Given the description of an element on the screen output the (x, y) to click on. 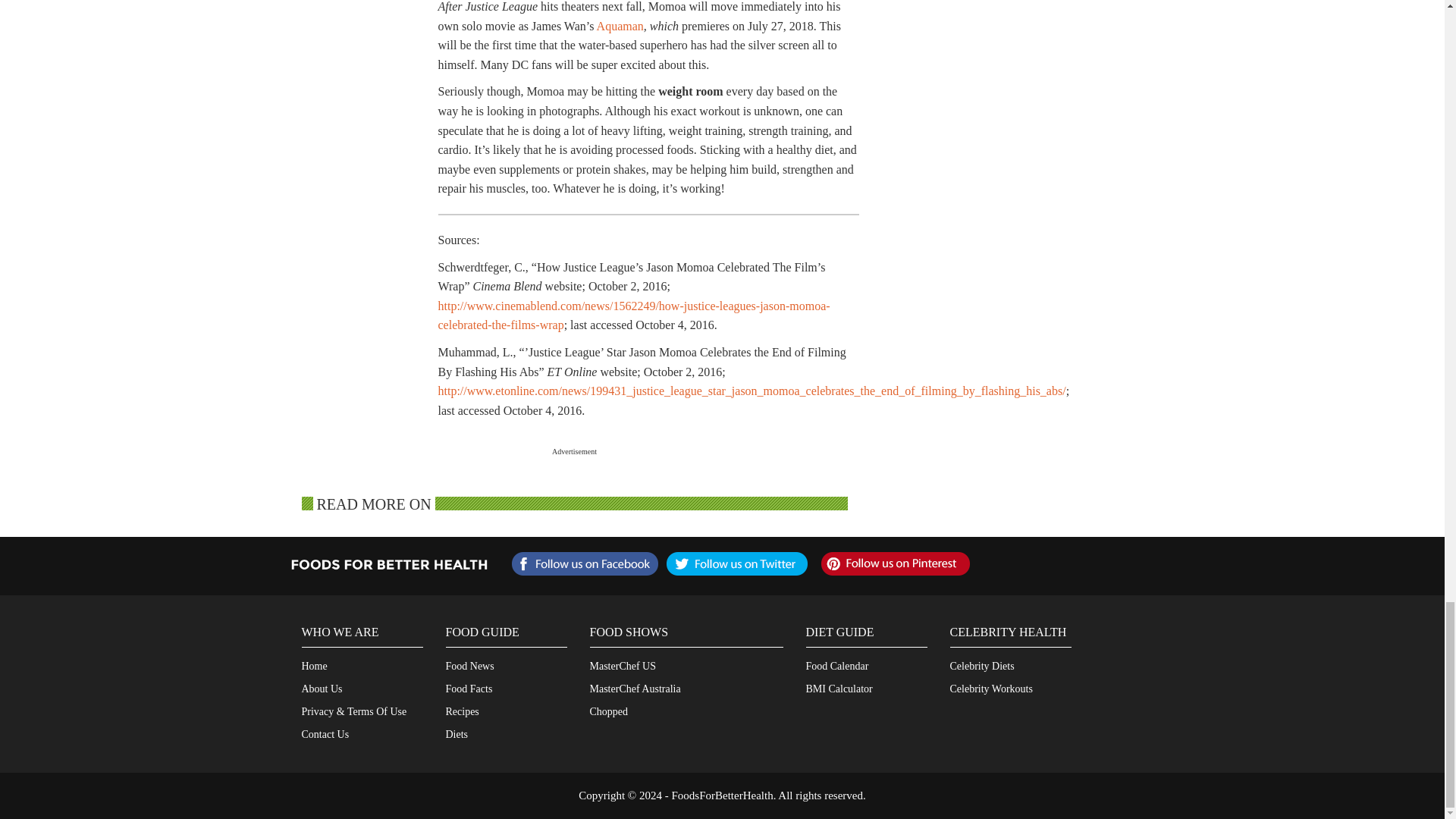
Aquaman (619, 25)
